Given the description of an element on the screen output the (x, y) to click on. 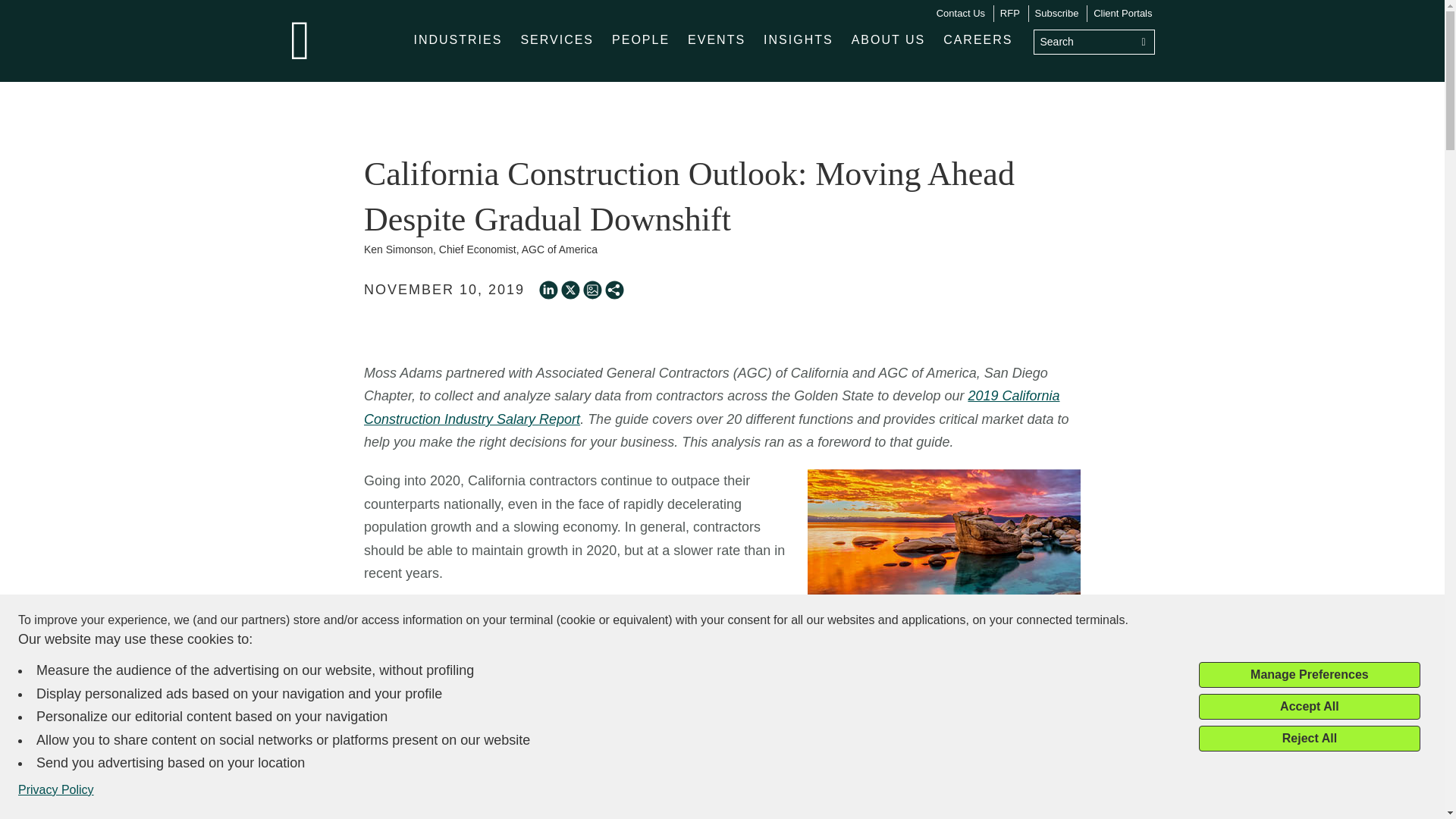
Manage Preferences (1309, 674)
Reject All (1309, 738)
Accept All (1309, 706)
INDUSTRIES (458, 39)
Privacy Policy (55, 789)
